Given the description of an element on the screen output the (x, y) to click on. 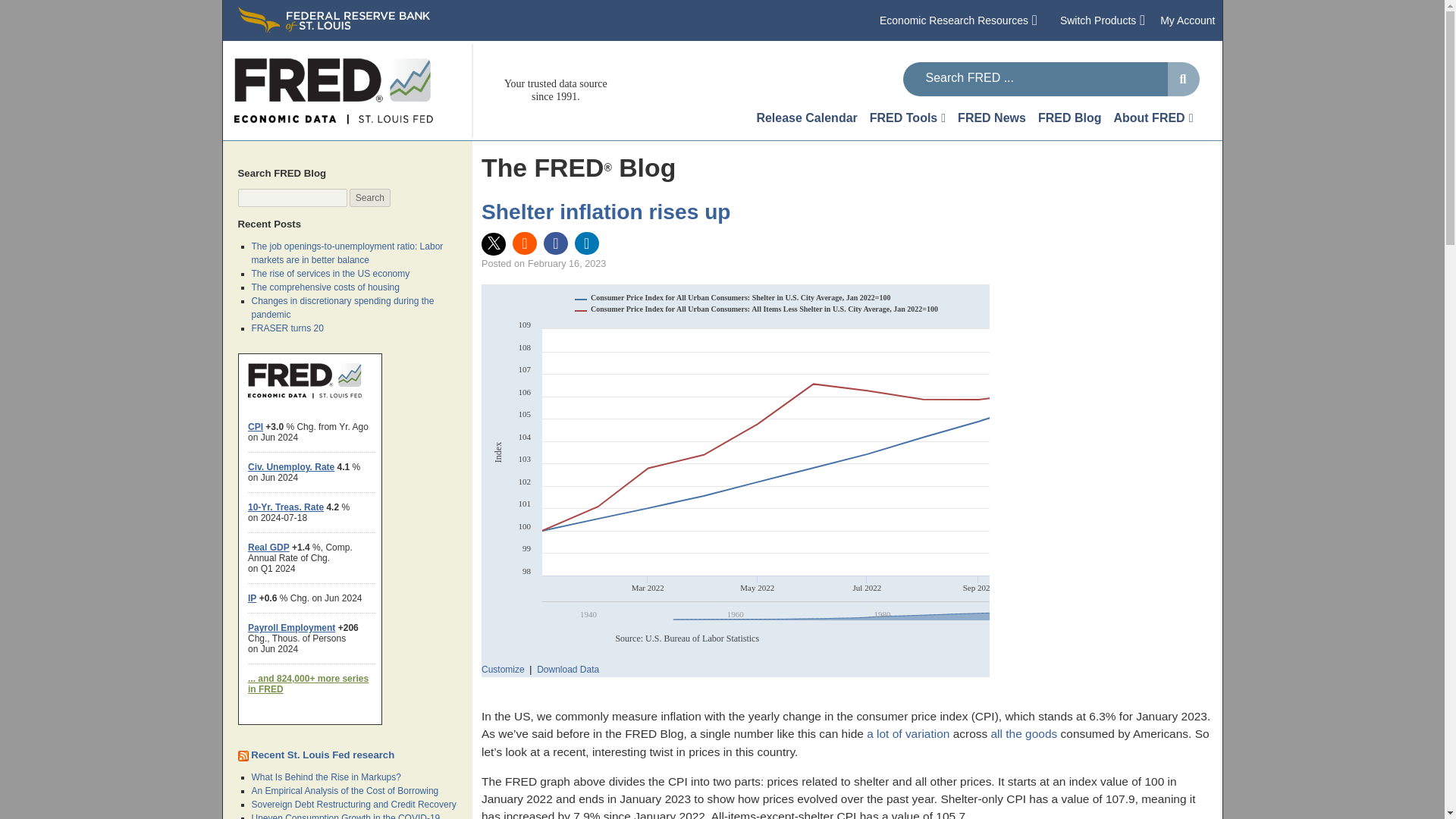
Search (369, 198)
My Account (1187, 20)
8:00 am (566, 263)
Permalink to Shelter inflation rises up (605, 211)
